Given the description of an element on the screen output the (x, y) to click on. 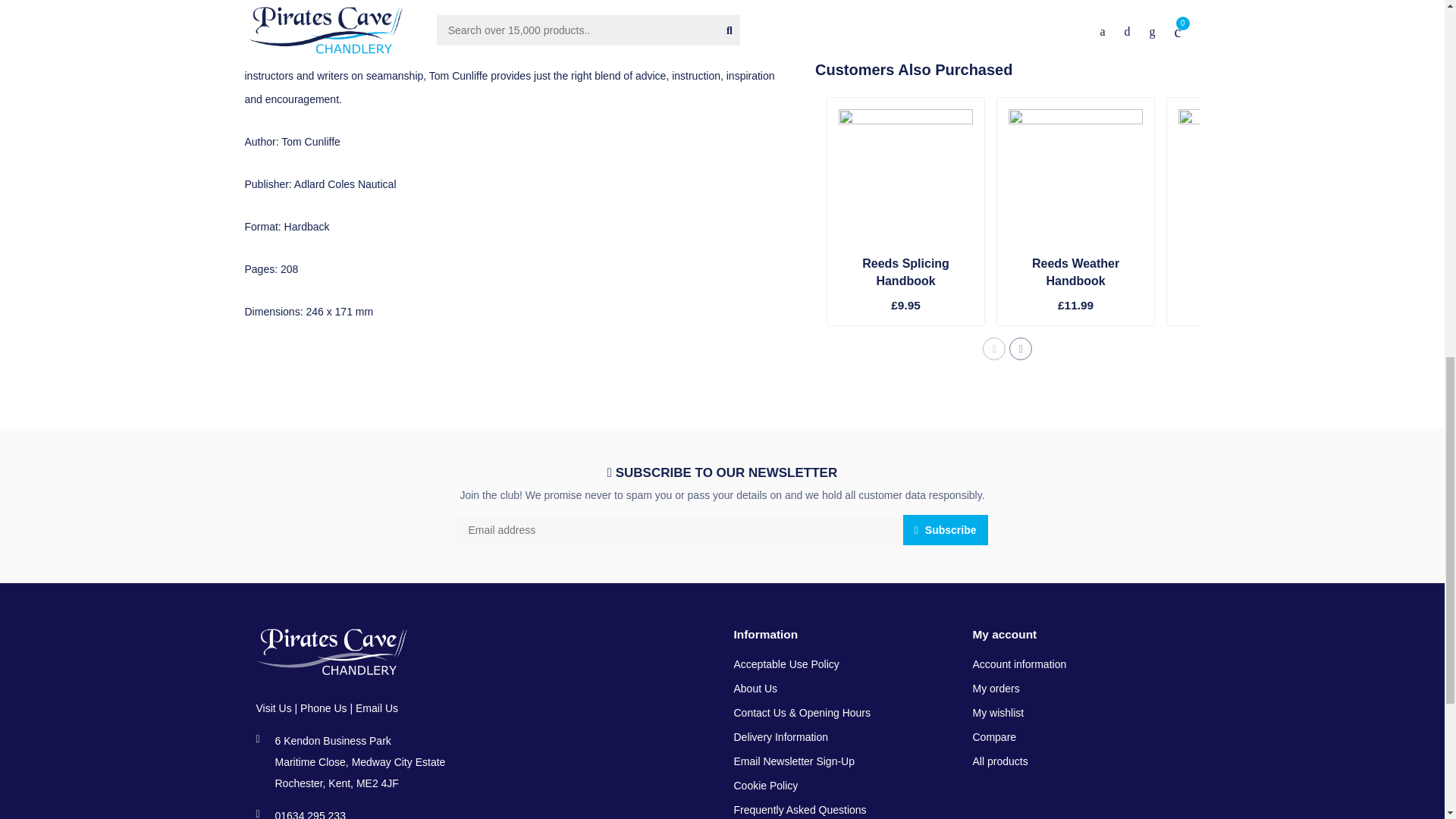
Delivery Information (780, 737)
Cookie Policy (765, 785)
Frequently Asked Questions (799, 808)
About Us (755, 689)
Acceptable Use Policy (786, 664)
Email Newsletter Sign-Up (794, 761)
